Given the description of an element on the screen output the (x, y) to click on. 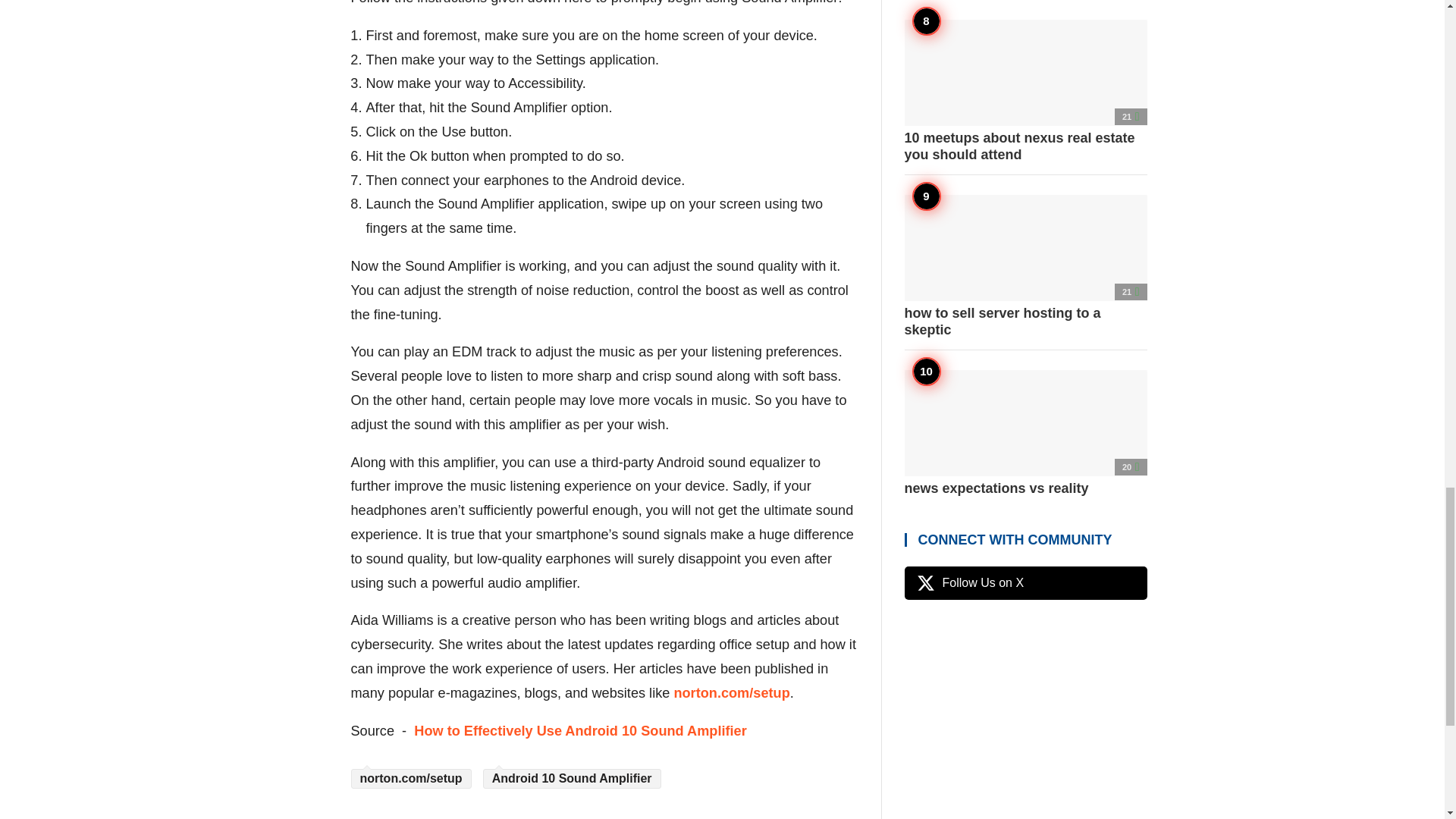
news expectations vs reality (1025, 433)
10 meetups about nexus real estate you should attend (1025, 91)
how to sell server hosting to a skeptic (1025, 266)
